Given the description of an element on the screen output the (x, y) to click on. 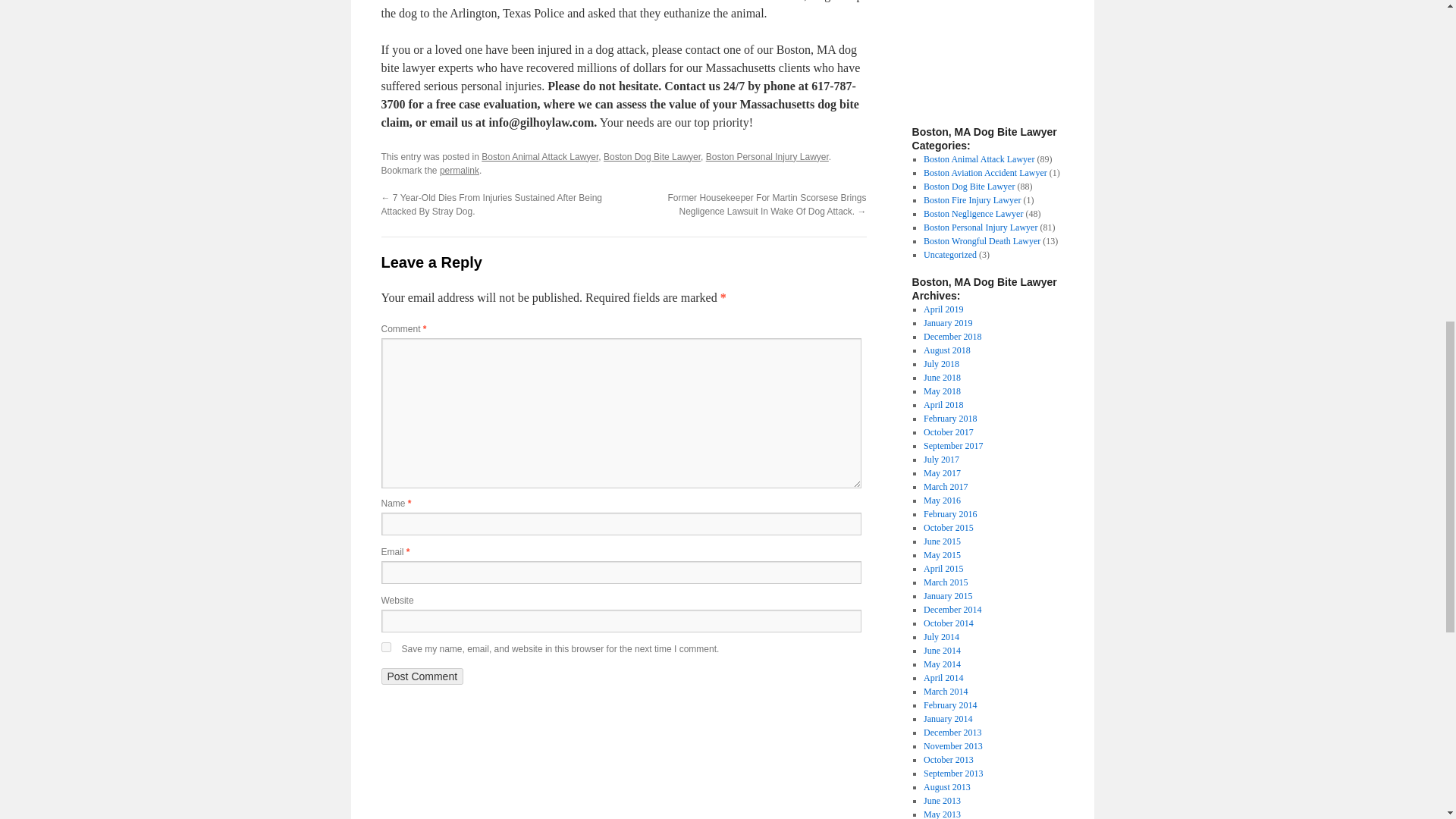
Boston Dog Bite Lawyer (968, 185)
yes (385, 646)
Post Comment (421, 676)
Boston Negligence Lawyer (973, 213)
Boston Fire Injury Lawyer (971, 199)
Post Comment (421, 676)
permalink (459, 170)
Boston Animal Attack Lawyer (978, 158)
Boston Dog Bite Lawyer (652, 156)
